Given the description of an element on the screen output the (x, y) to click on. 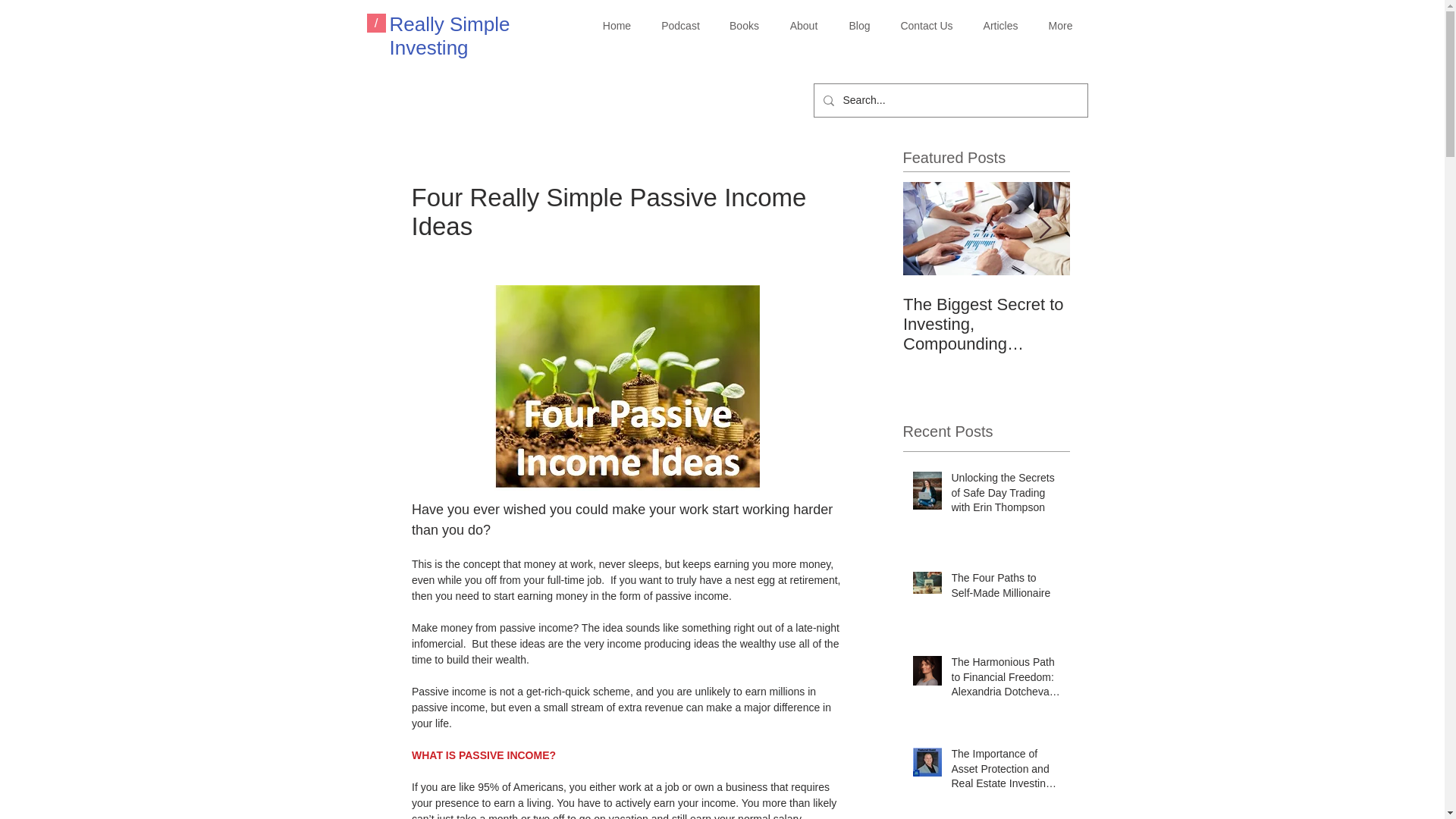
Books (743, 25)
About (802, 25)
Podcast (680, 25)
Blog (859, 25)
Contact Us (926, 25)
Home (616, 25)
Articles (1000, 25)
